Given the description of an element on the screen output the (x, y) to click on. 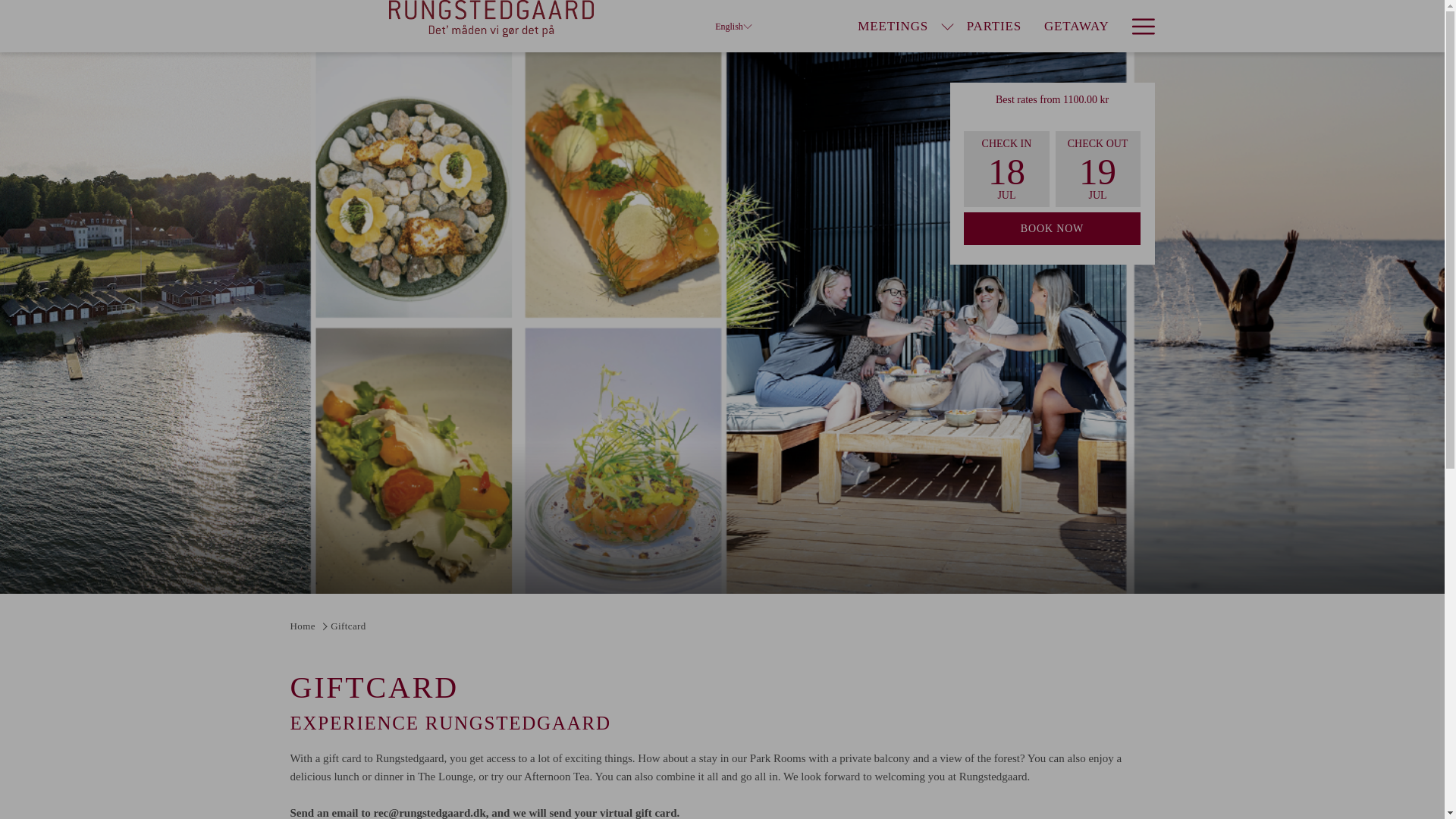
Menu (1142, 26)
MEETINGS (892, 26)
GETAWAY (1075, 26)
Back to the homepage (491, 18)
PARTIES (993, 26)
English (733, 26)
